Given the description of an element on the screen output the (x, y) to click on. 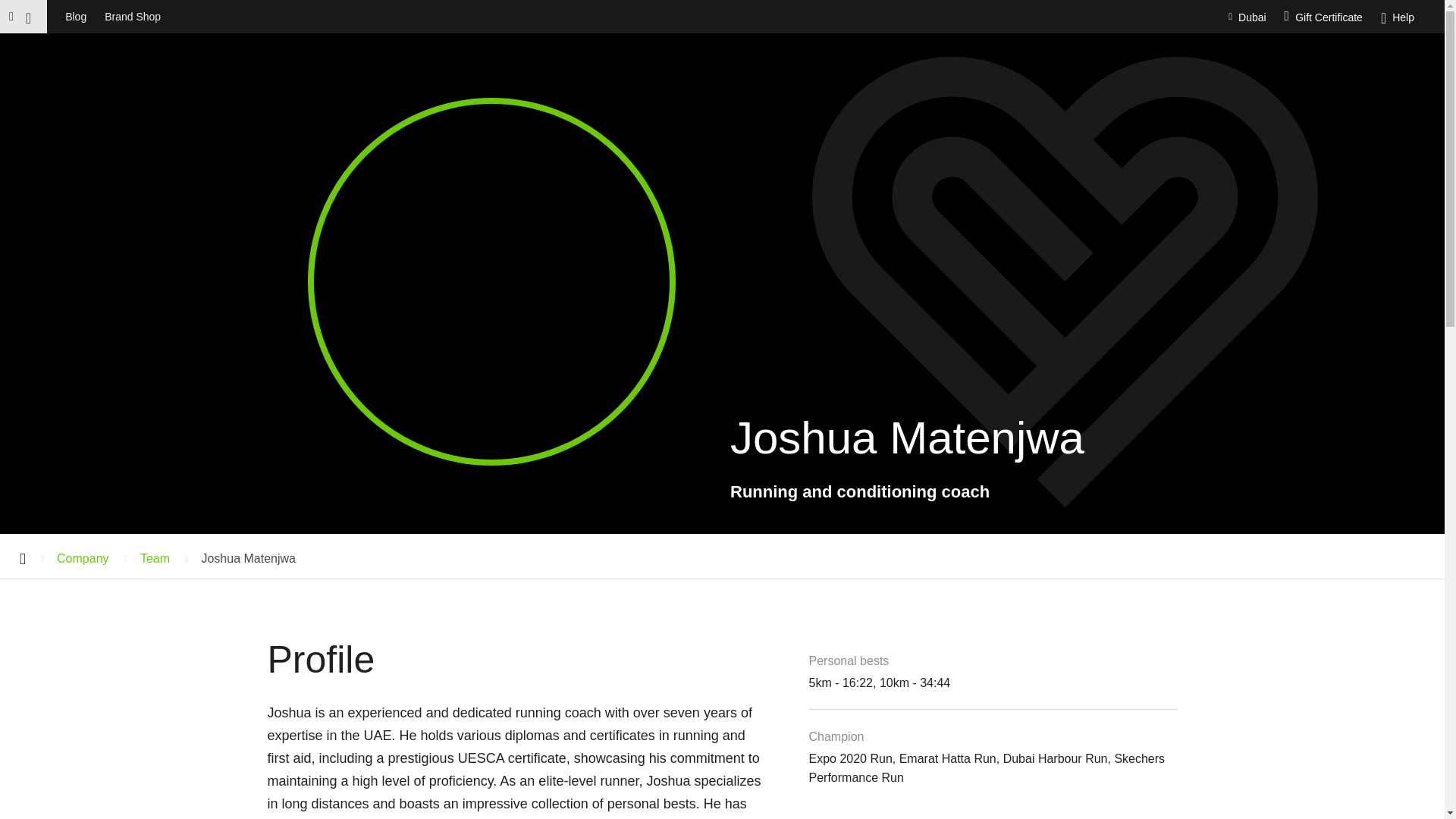
Gift Certificate (1323, 16)
Dubai (1252, 16)
Company (89, 557)
Blog (76, 16)
Team (161, 557)
Joshua Matenjwa (255, 557)
Brand Shop (133, 16)
